Given the description of an element on the screen output the (x, y) to click on. 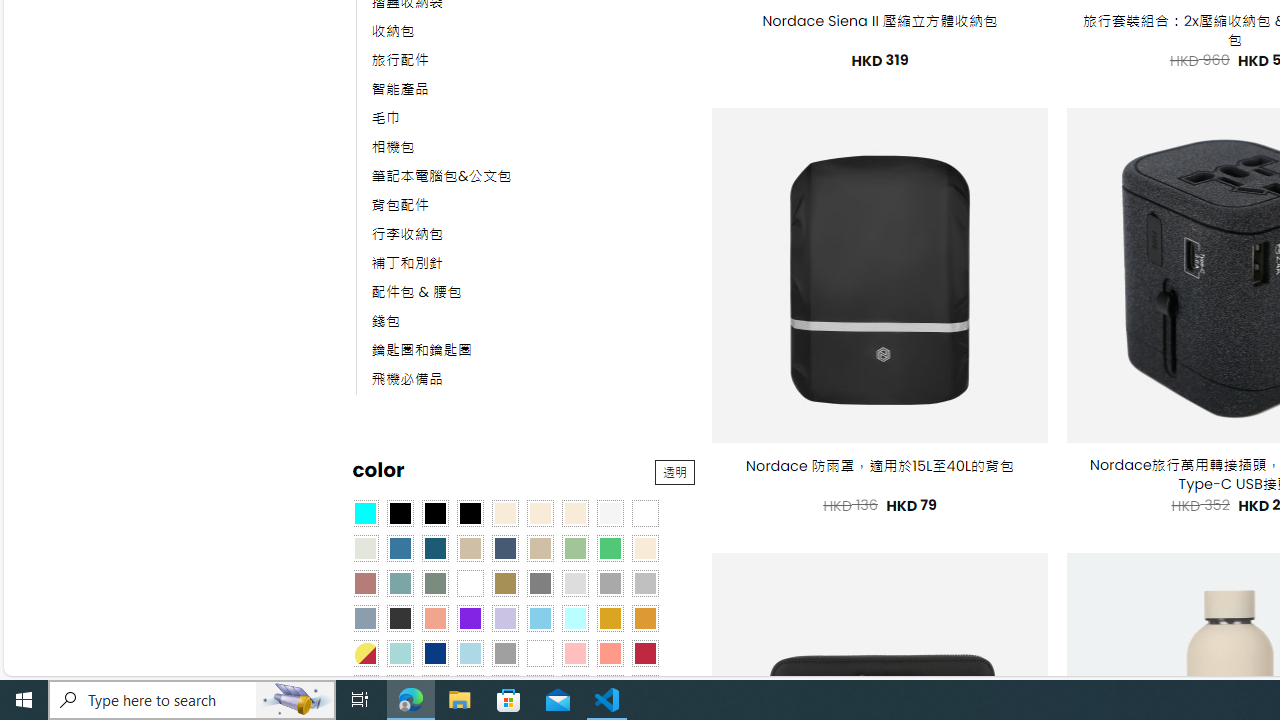
Cream (574, 514)
